Given the description of an element on the screen output the (x, y) to click on. 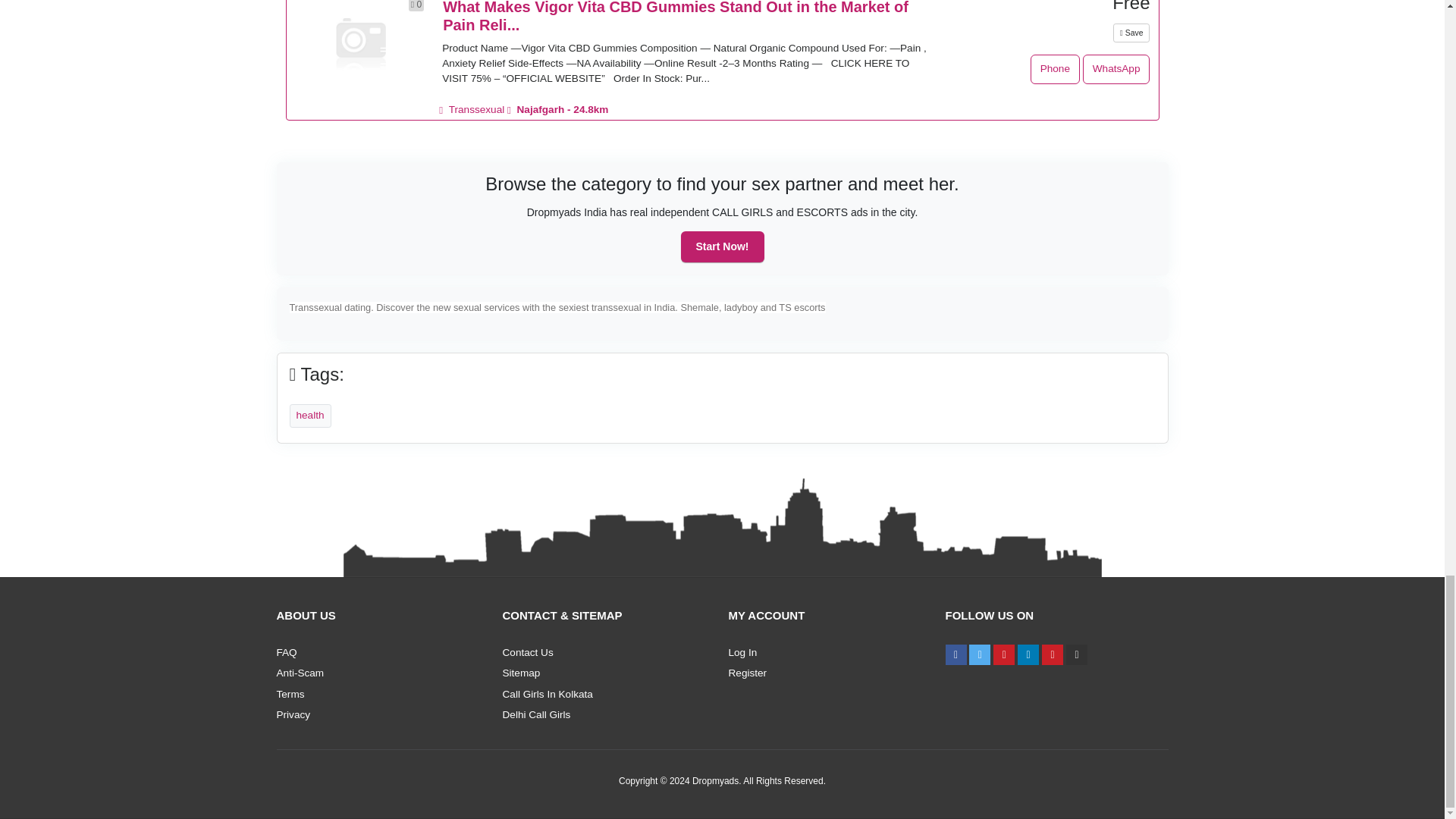
Twitter (979, 654)
Tiktok (1076, 654)
Facebook (955, 654)
Pinterest (1052, 654)
Instagram (1003, 654)
LinkedIn (1028, 654)
